Given the description of an element on the screen output the (x, y) to click on. 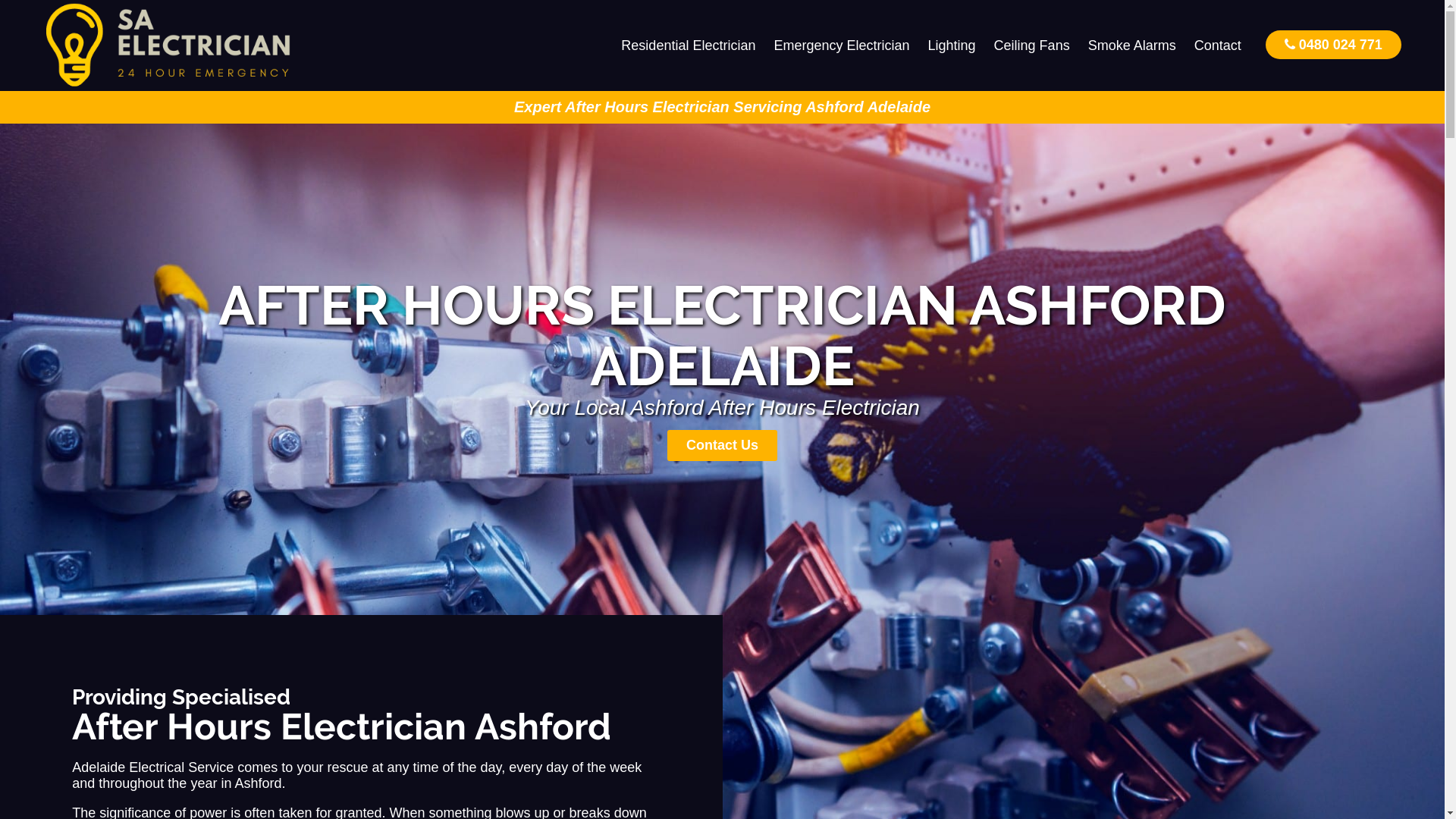
Contact Element type: text (1217, 45)
Contact Us Element type: text (722, 445)
Smoke Alarms Element type: text (1132, 45)
0480 024 771 Element type: text (1333, 44)
Ceiling Fans Element type: text (1032, 45)
Lighting Element type: text (952, 45)
Residential Electrician Element type: text (687, 45)
Emergency Electrician Element type: text (841, 45)
